Given the description of an element on the screen output the (x, y) to click on. 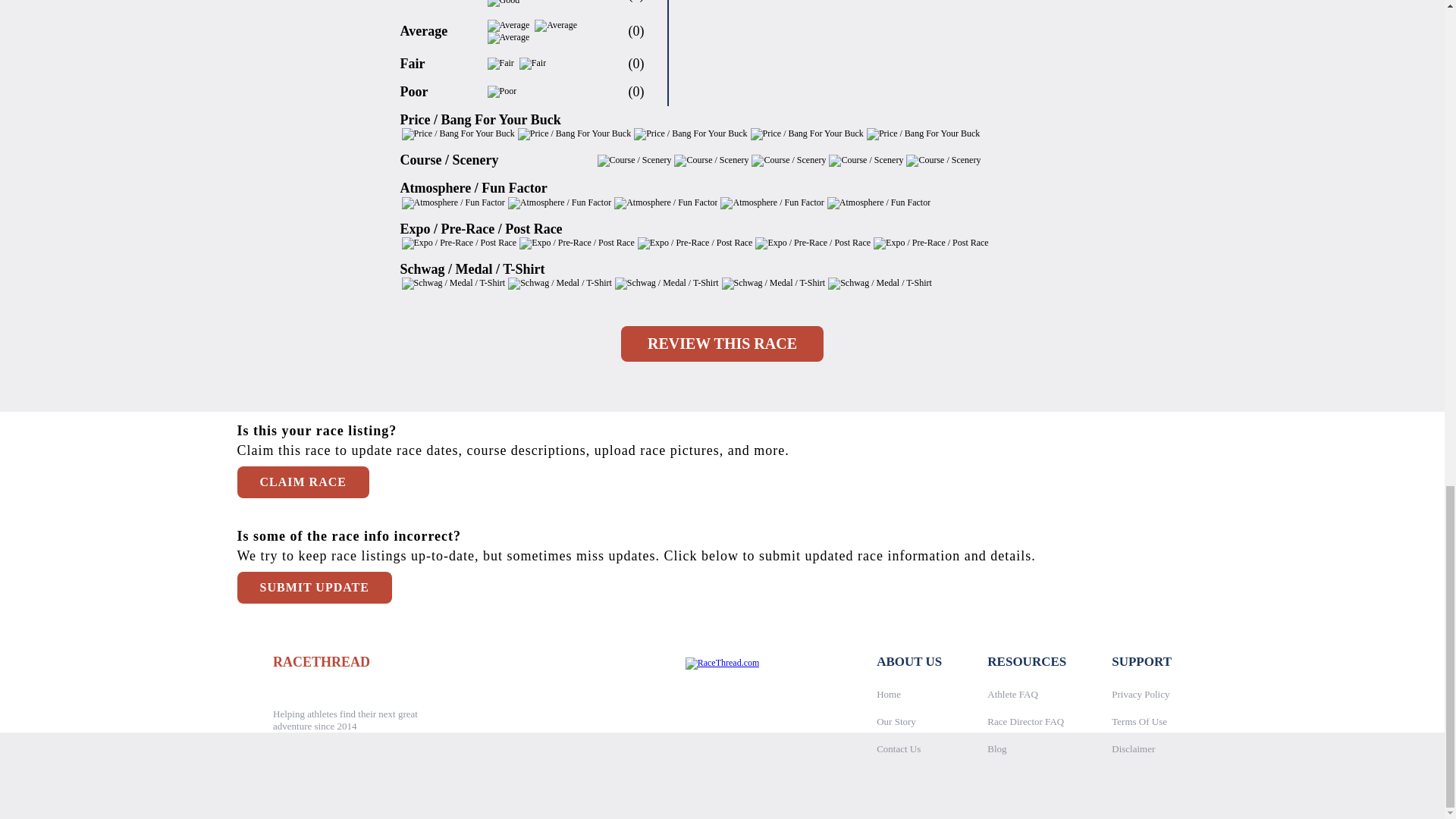
SUBMIT UPDATE (313, 587)
Race Director FAQ (1025, 720)
REVIEW THIS RACE (722, 343)
Blog (996, 747)
CLAIM RACE (301, 481)
Our Story (895, 720)
Athlete FAQ (1012, 693)
Contact Us (898, 747)
Home (888, 693)
